Given the description of an element on the screen output the (x, y) to click on. 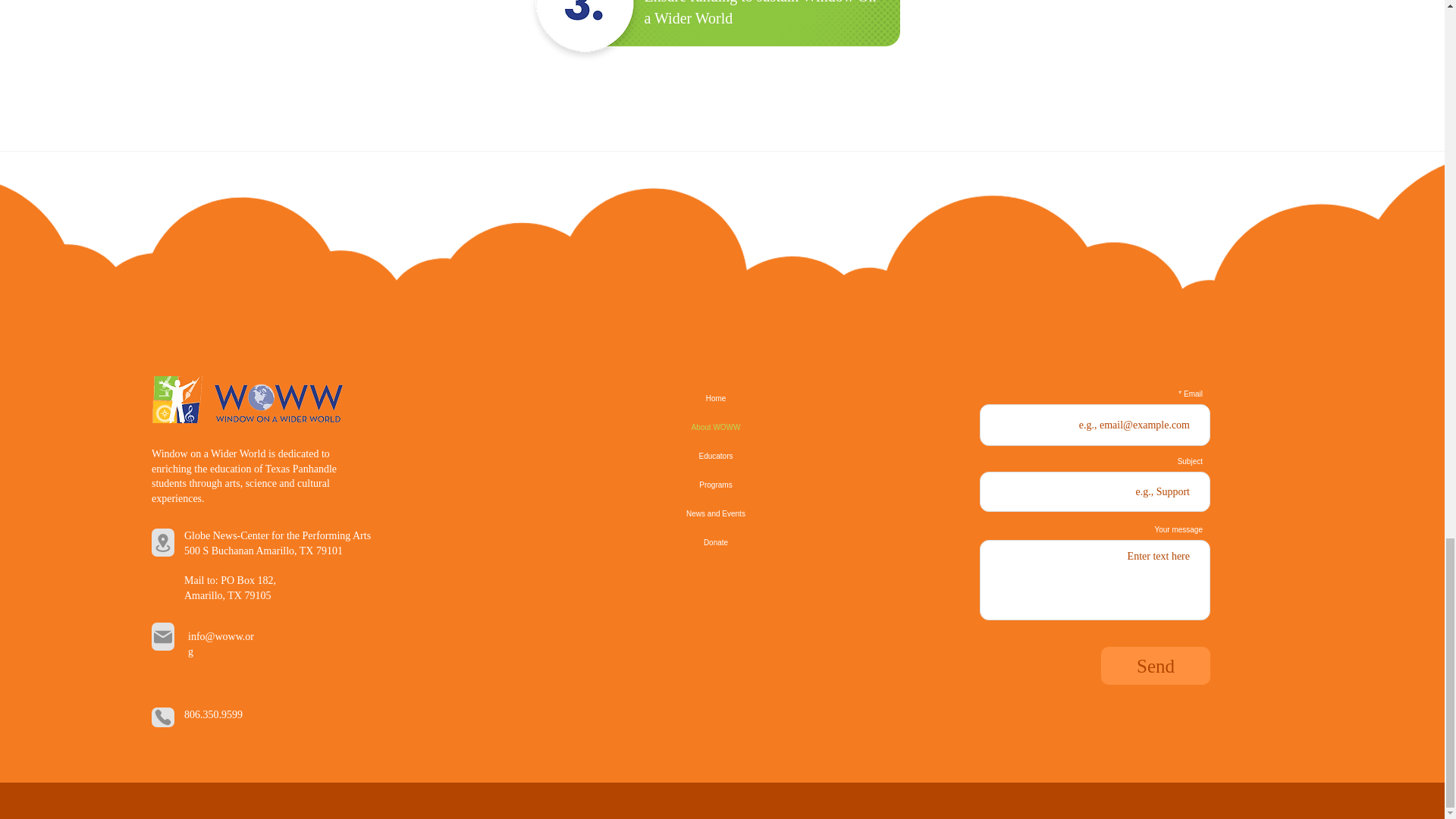
News and Events (716, 513)
Programs (716, 484)
Home (716, 398)
Donate (716, 542)
Send (1154, 665)
Educators (716, 456)
